Given the description of an element on the screen output the (x, y) to click on. 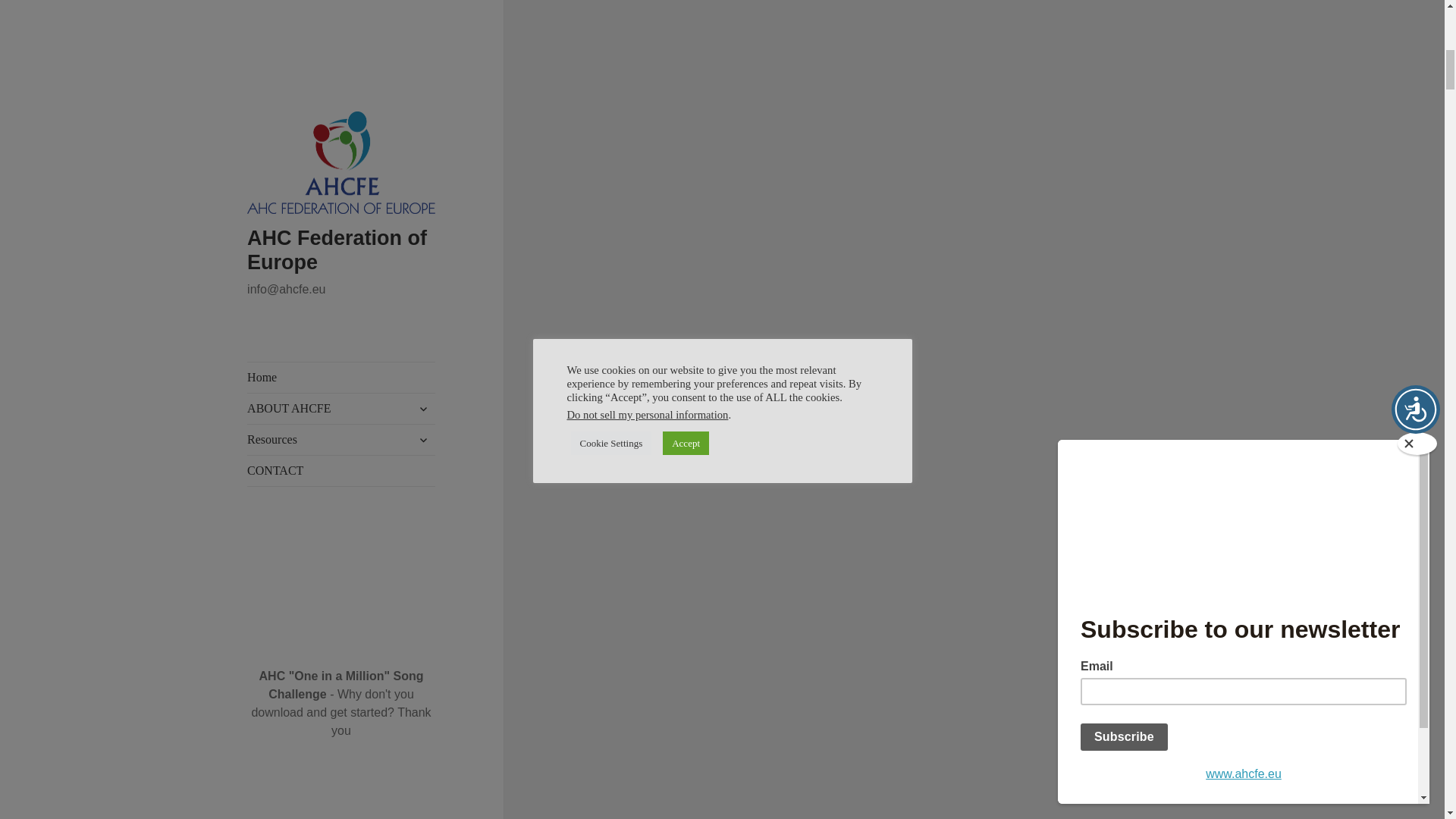
Human Timebombs - Grand Prize Winner at Neuro Film Festival (341, 47)
AHCFE Ukraine Statement (313, 466)
Rare Disease Day Newsletter 2023 (331, 338)
